Given the description of an element on the screen output the (x, y) to click on. 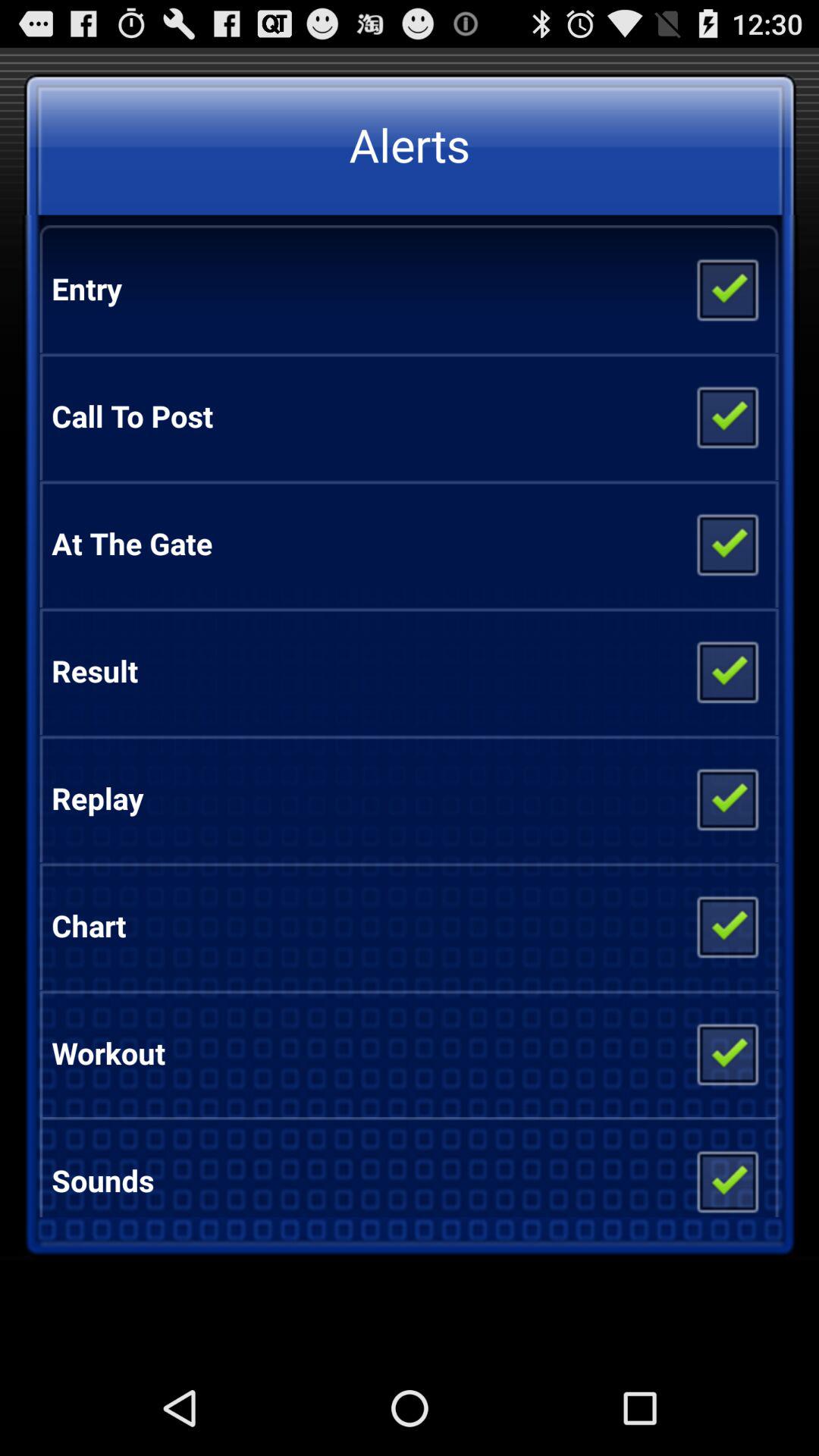
turn off the icon next to the replay (726, 798)
